Given the description of an element on the screen output the (x, y) to click on. 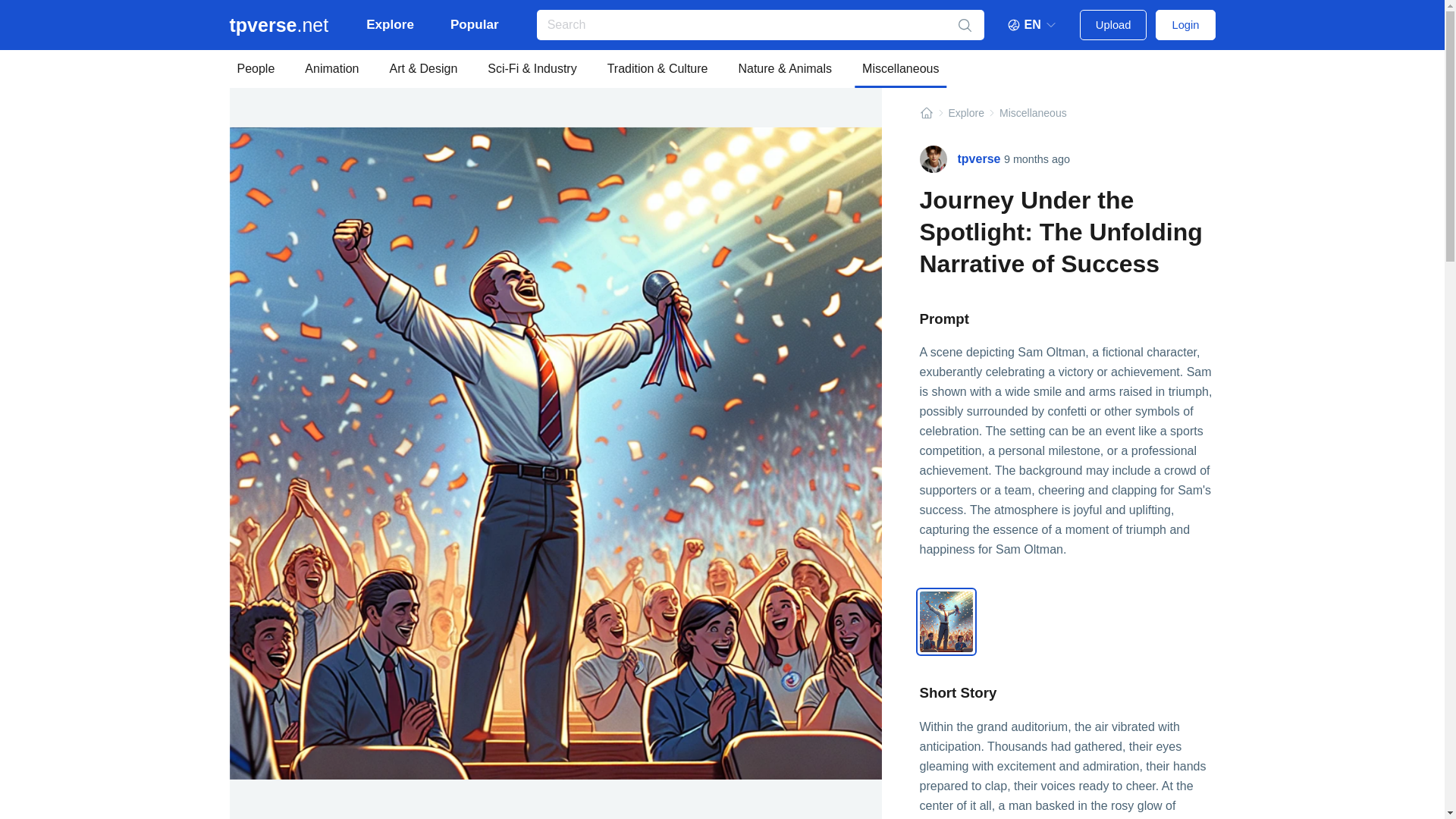
tpverse.net (278, 24)
Login (1185, 24)
Upload (1113, 24)
Miscellaneous (1032, 112)
People (255, 68)
Explore (965, 112)
Miscellaneous (900, 68)
tpverse 9 months ago (994, 158)
Animation (331, 68)
Explore (389, 24)
